Given the description of an element on the screen output the (x, y) to click on. 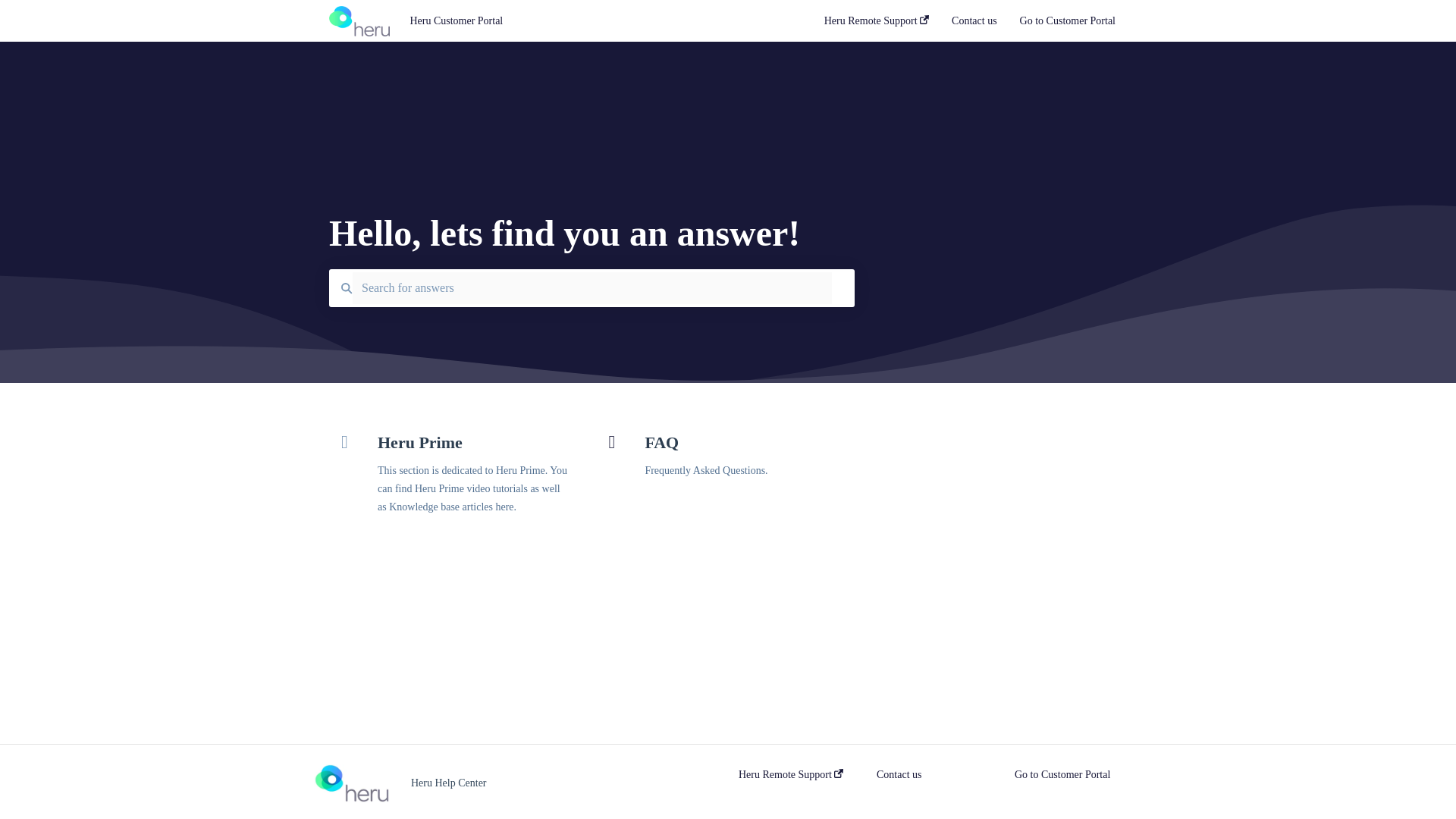
Heru Remote Support (876, 25)
Heru Customer Portal (593, 21)
Go to Customer Portal (1067, 25)
Go to Customer Portal (1061, 775)
Contact us (898, 775)
Heru Remote Support (790, 775)
Contact us (974, 25)
